Given the description of an element on the screen output the (x, y) to click on. 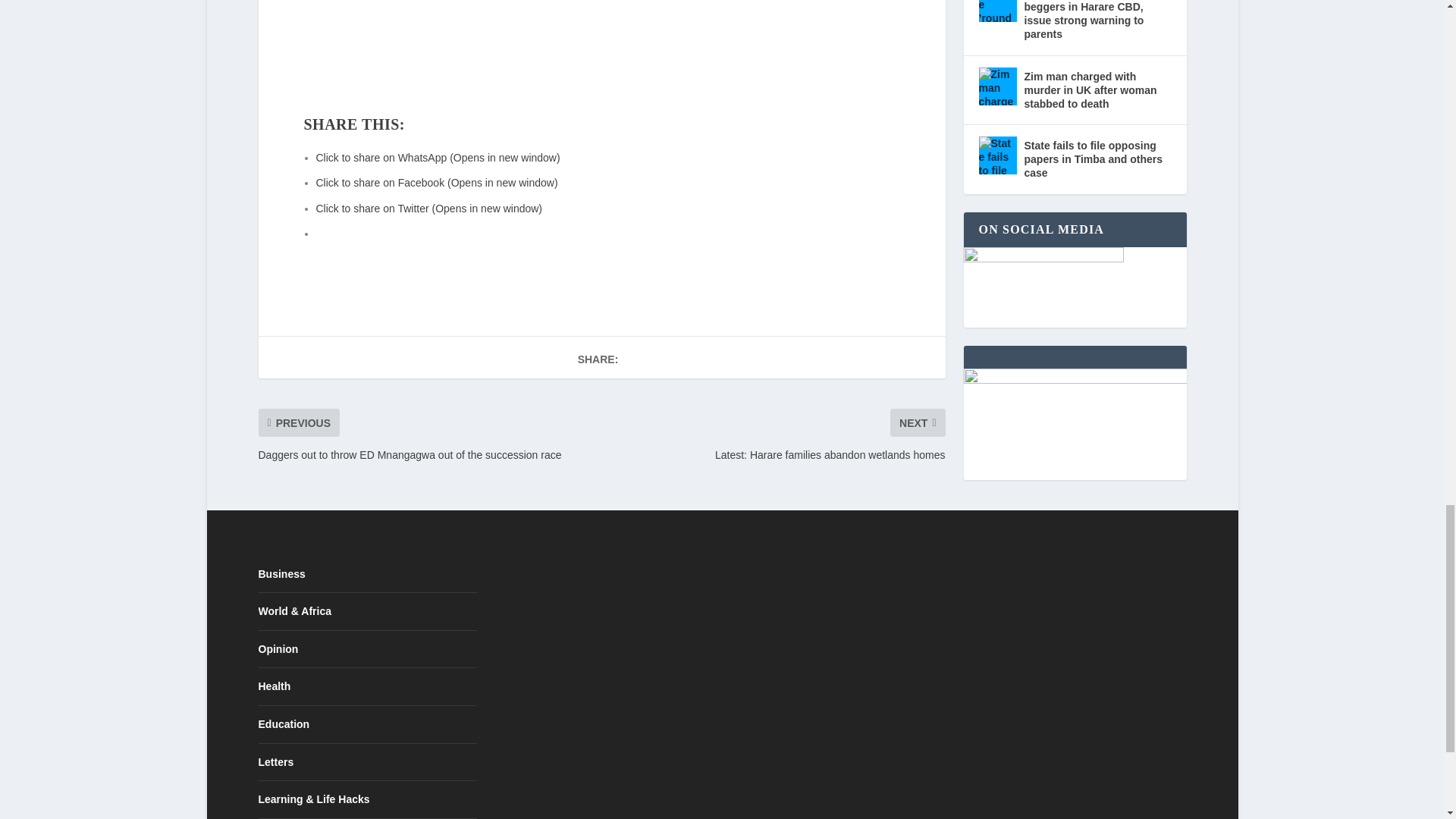
Click to share on Twitter (428, 208)
Click to share on WhatsApp (437, 157)
Click to share on Facebook (436, 182)
